Given the description of an element on the screen output the (x, y) to click on. 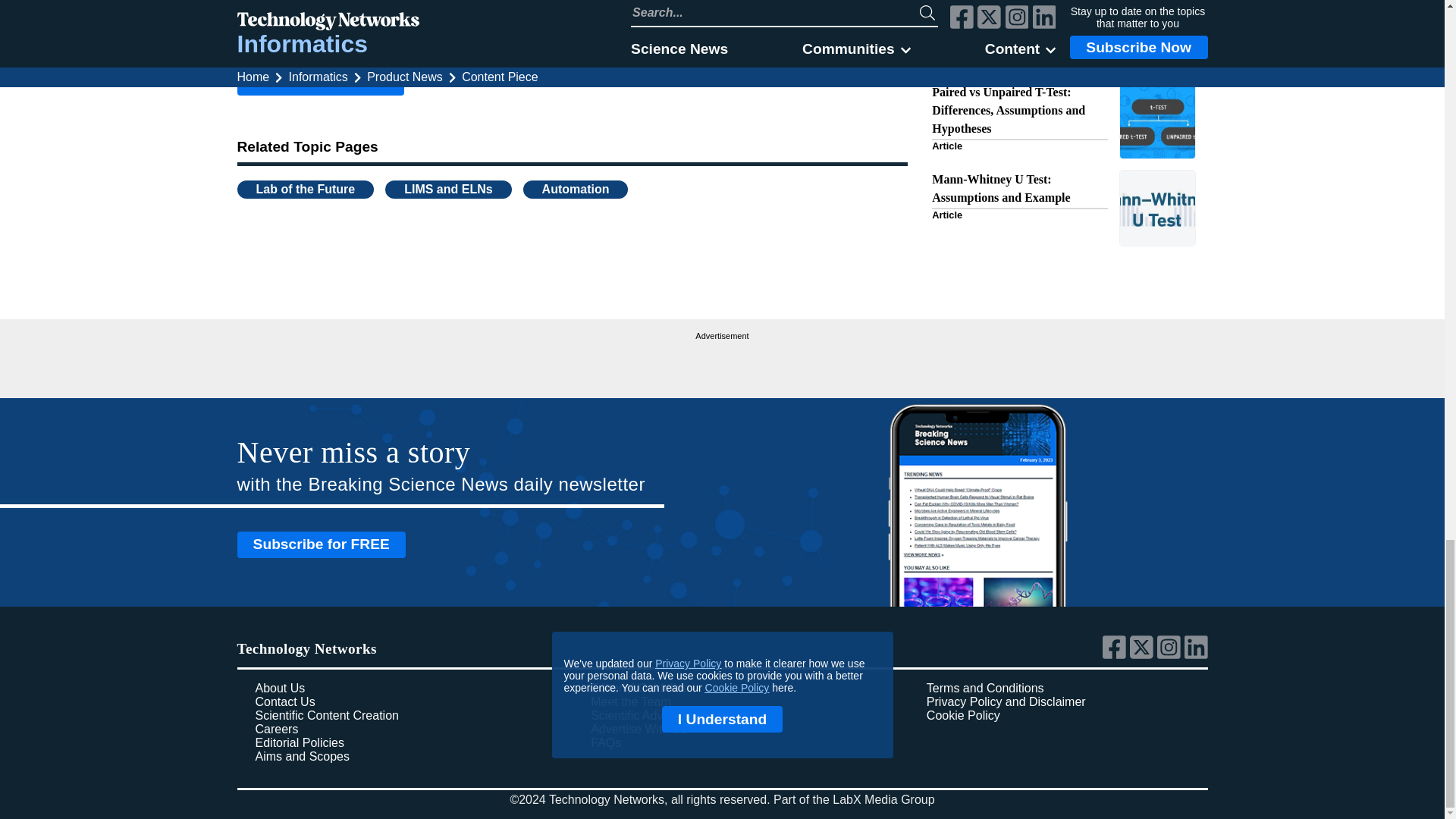
3rd party ad content (721, 362)
Link to Technology Networks' linkedin page (1196, 655)
Link to Technology Networks' instagram page (1171, 655)
Link to Technology Networks' twitter page (1143, 655)
Link to Technology Networks' facebook page (1115, 655)
